Given the description of an element on the screen output the (x, y) to click on. 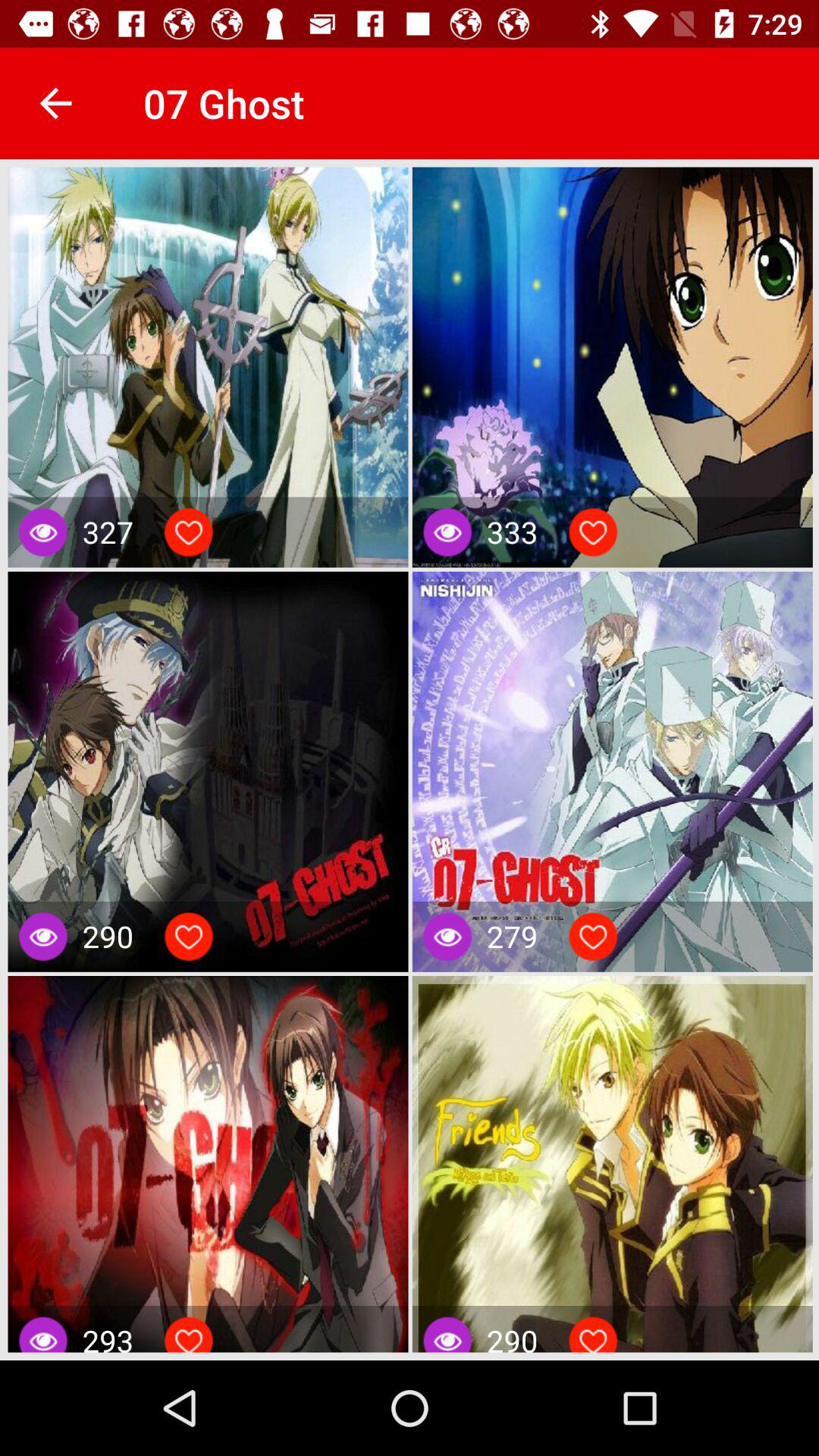
love (188, 532)
